Given the description of an element on the screen output the (x, y) to click on. 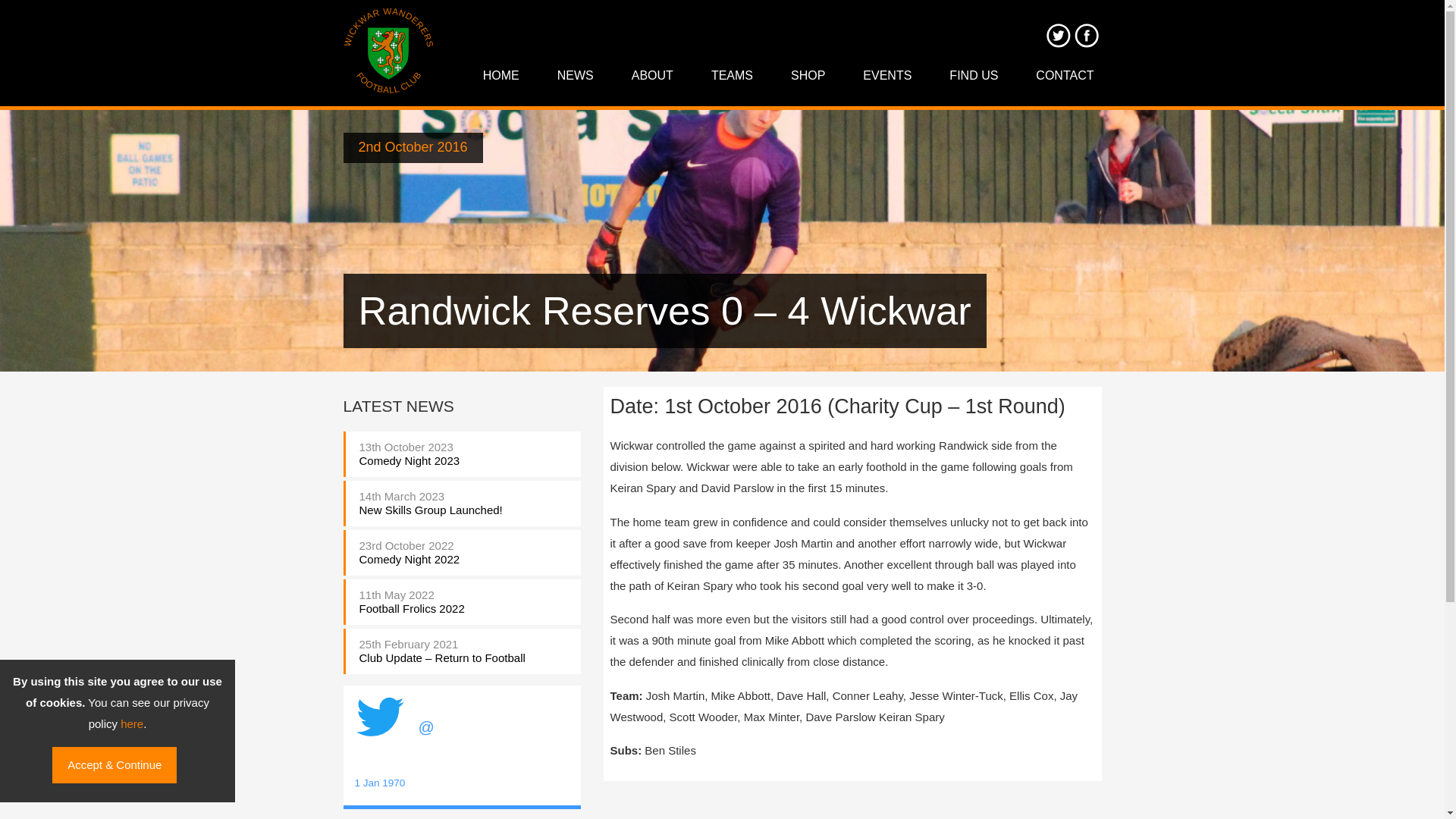
CONTACT (1064, 75)
Follow us on Twitter (1057, 35)
FIND US (973, 75)
Like us on Facebook (1086, 35)
HOME (500, 75)
ABOUT (652, 75)
TEAMS (731, 75)
NEWS (574, 75)
EVENTS (886, 75)
Wickwar Wanderers Football Club (387, 52)
SHOP (807, 75)
